Given the description of an element on the screen output the (x, y) to click on. 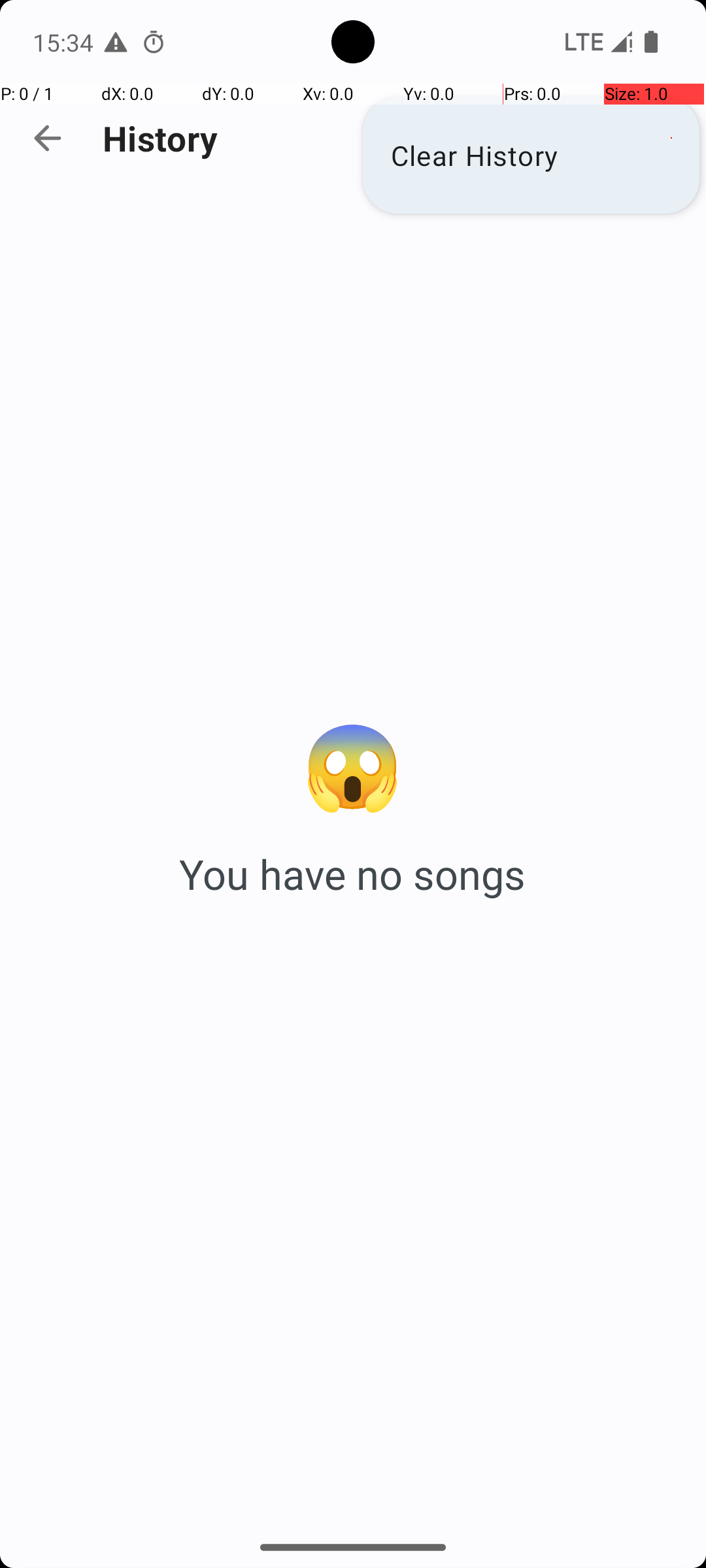
Clear History Element type: android.widget.TextView (531, 154)
